Given the description of an element on the screen output the (x, y) to click on. 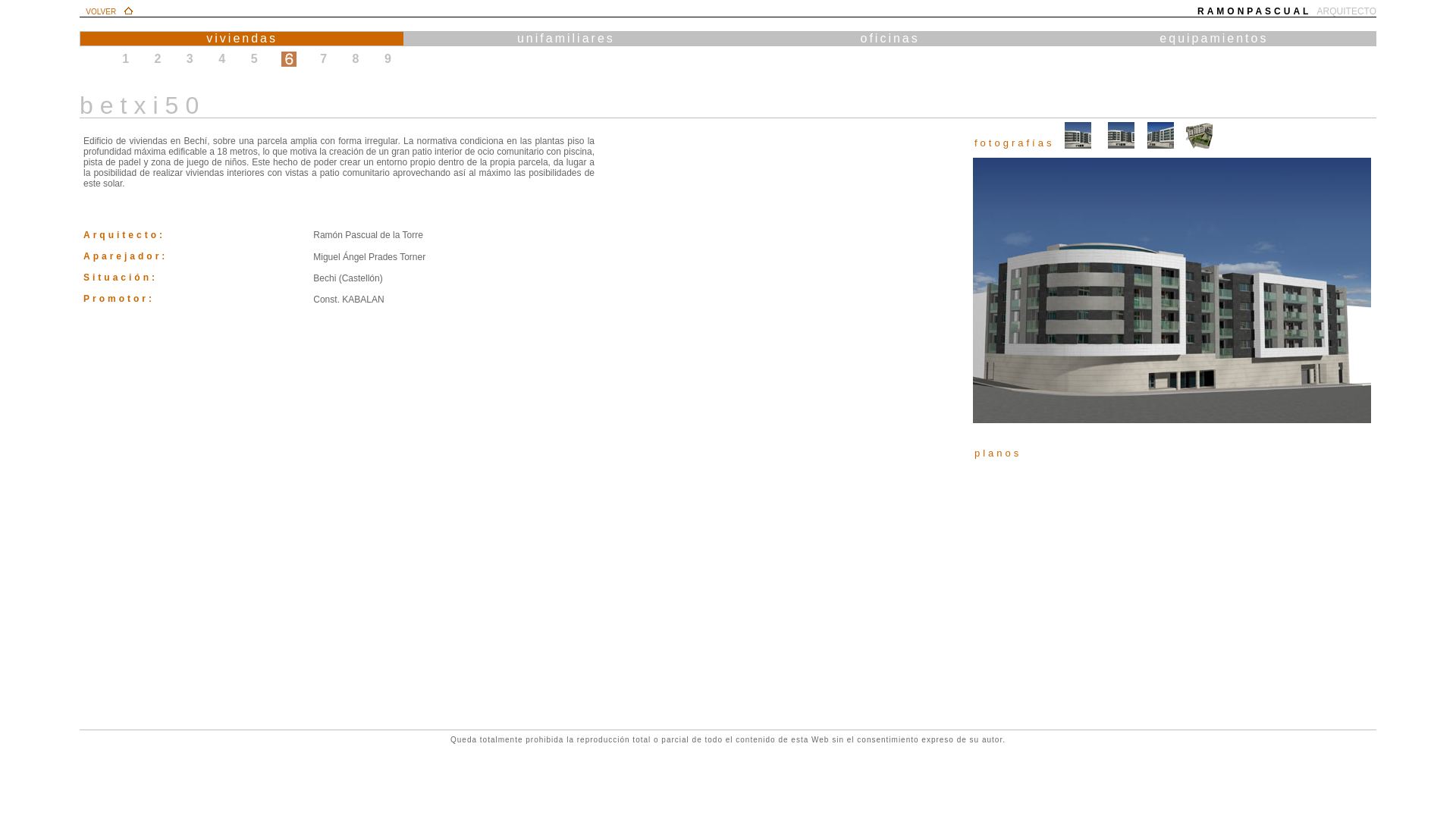
2 Element type: text (156, 58)
oficinas Element type: text (889, 37)
9 Element type: text (387, 58)
1 Element type: text (125, 58)
4 Element type: text (221, 58)
VOLVER Element type: text (100, 11)
7 Element type: text (323, 58)
8 Element type: text (355, 58)
5 Element type: text (254, 58)
unifamiliares Element type: text (566, 37)
equipamientos Element type: text (1213, 37)
3 Element type: text (189, 58)
